Given the description of an element on the screen output the (x, y) to click on. 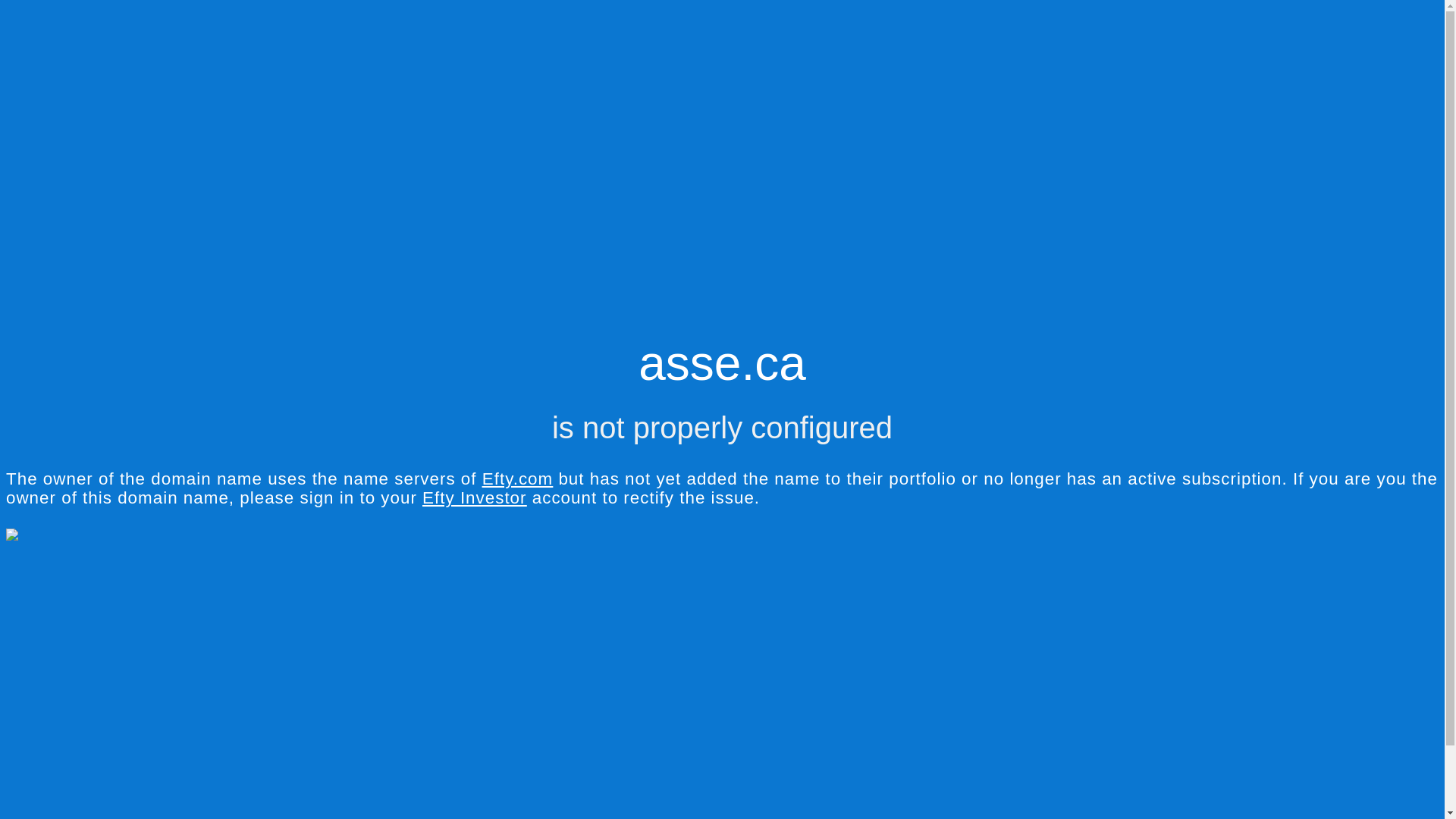
Efty Investor Element type: text (474, 497)
Efty.com Element type: text (517, 478)
